Given the description of an element on the screen output the (x, y) to click on. 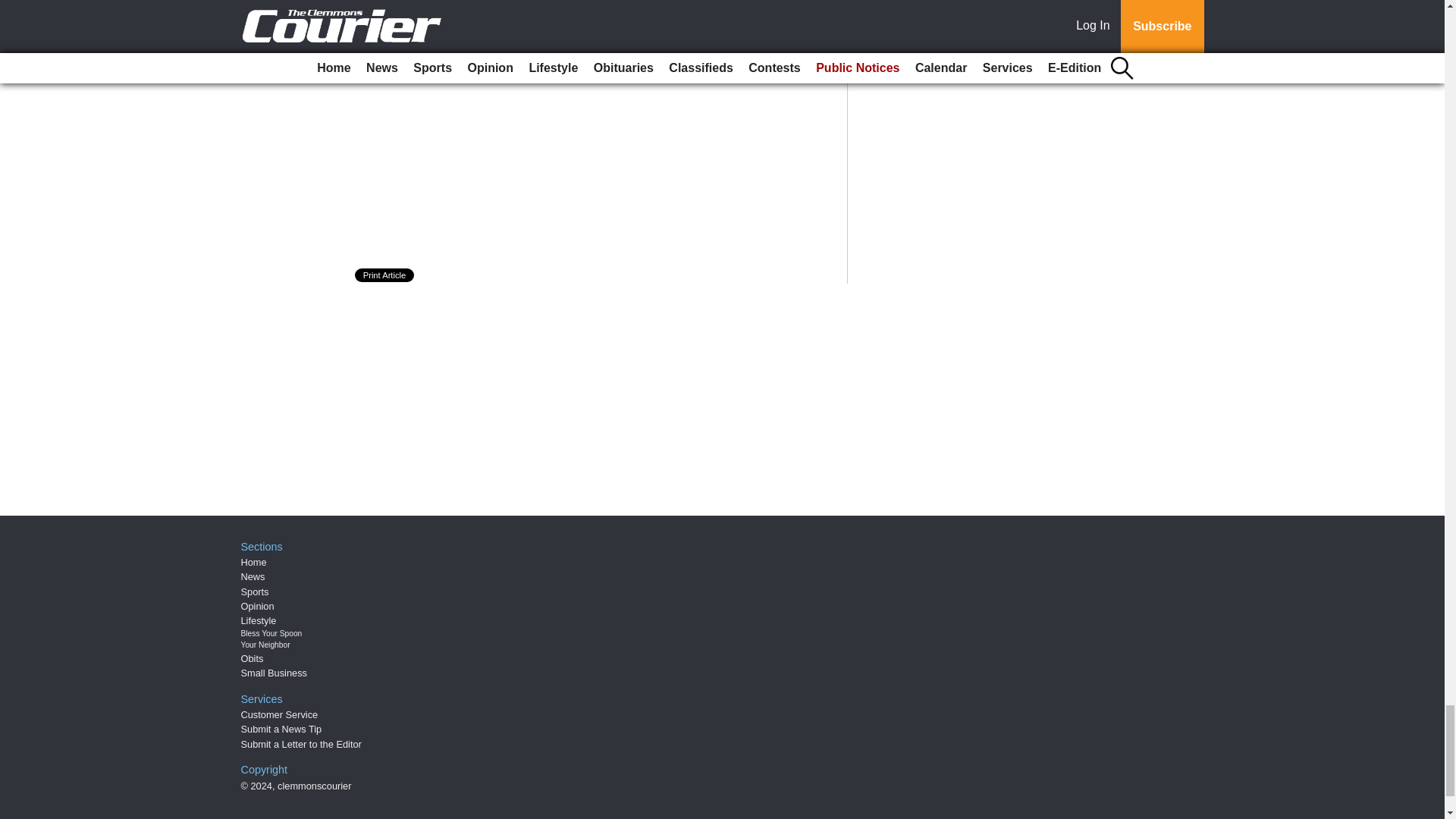
Print Article (384, 274)
